Given the description of an element on the screen output the (x, y) to click on. 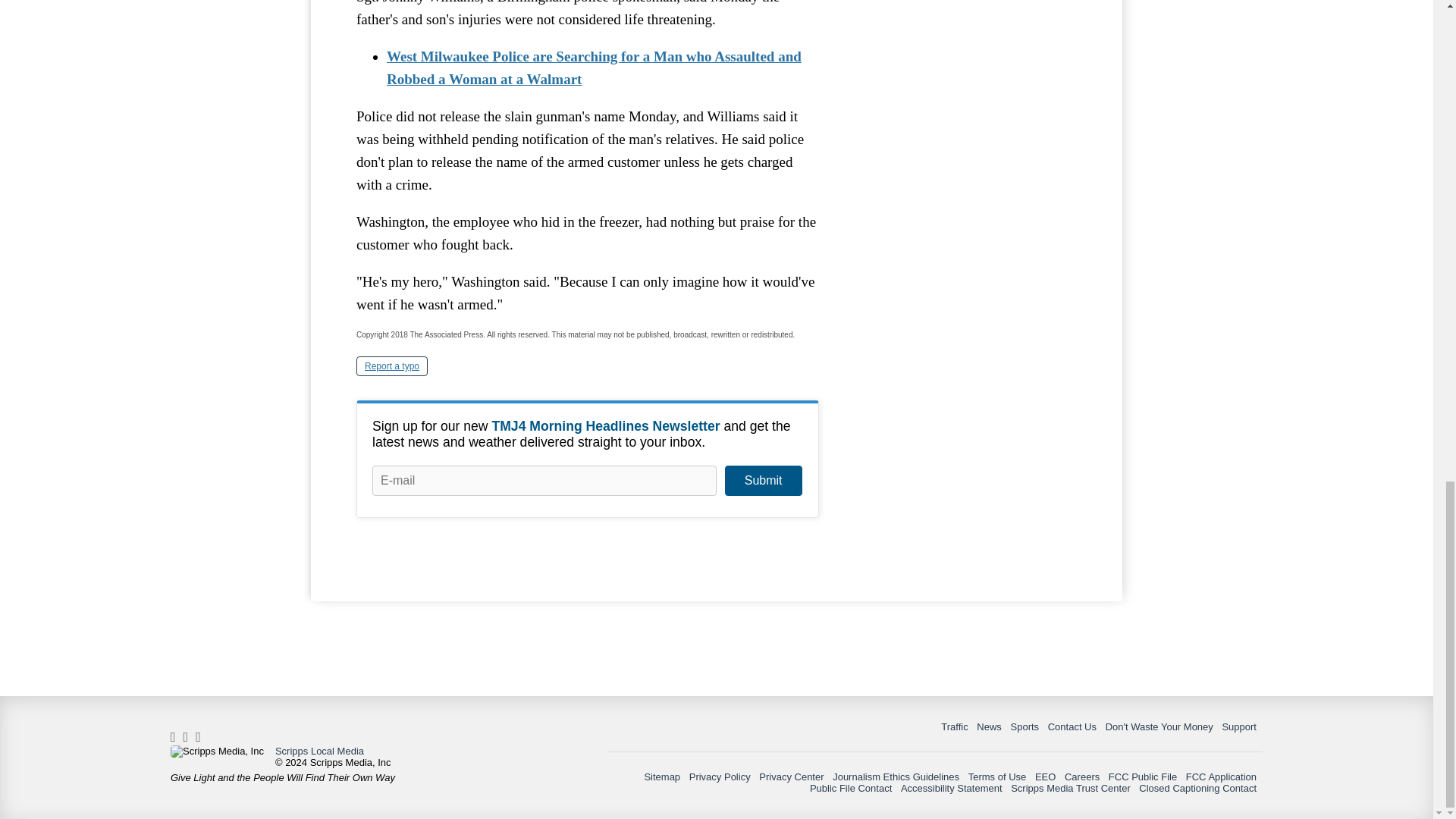
Submit (763, 481)
